Given the description of an element on the screen output the (x, y) to click on. 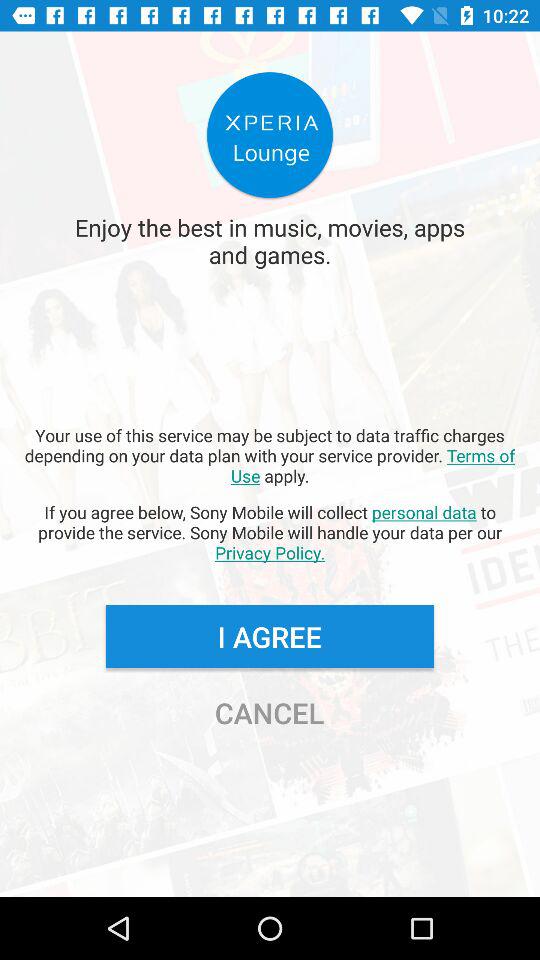
turn off your use of (270, 455)
